Given the description of an element on the screen output the (x, y) to click on. 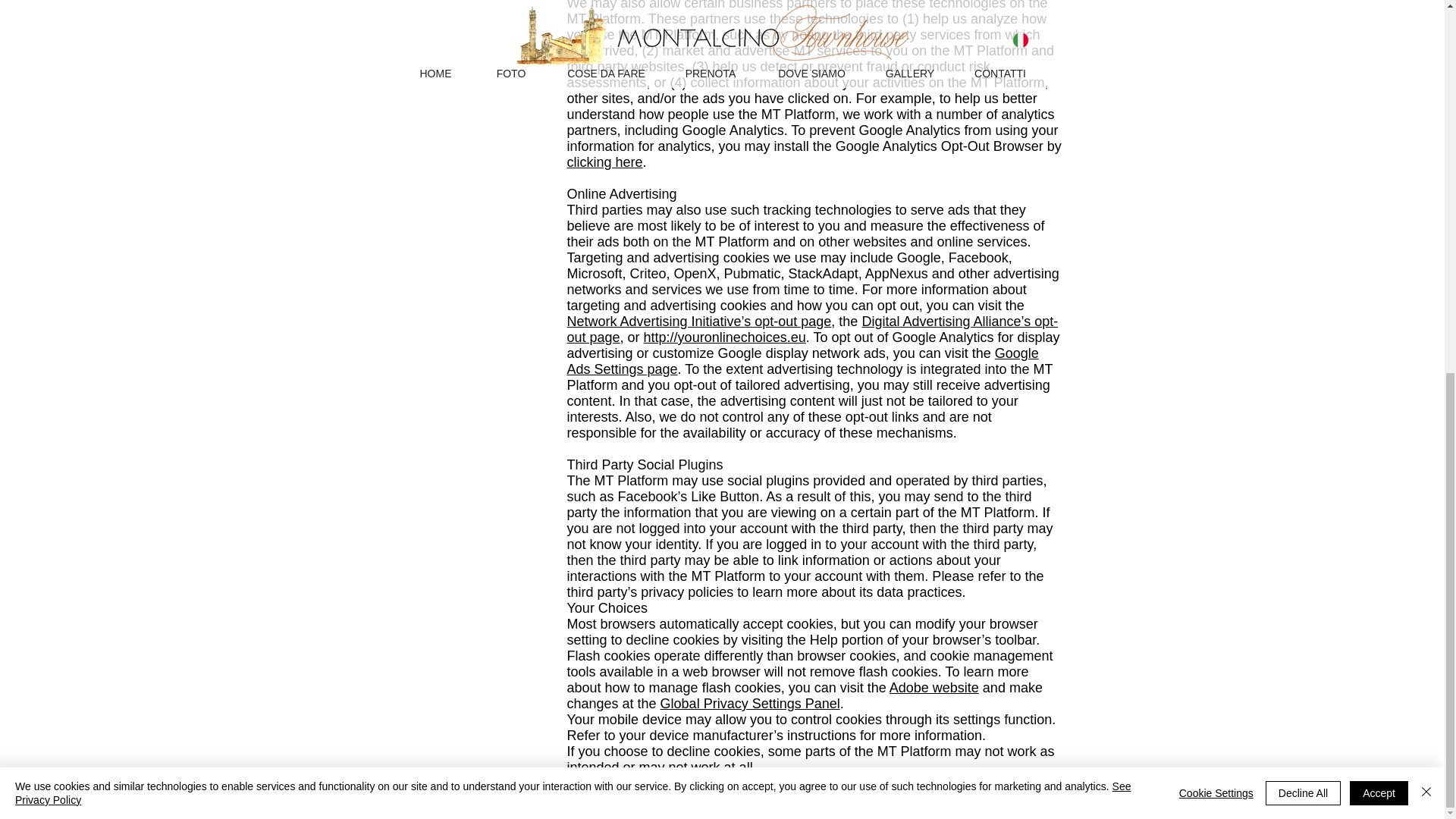
See Privacy Policy (572, 111)
Adobe website (933, 687)
Global Privacy Settings Panel (750, 703)
Google Ads Settings page (803, 360)
Accept (1378, 111)
clicking here (605, 161)
Decline All (1302, 111)
